Given the description of an element on the screen output the (x, y) to click on. 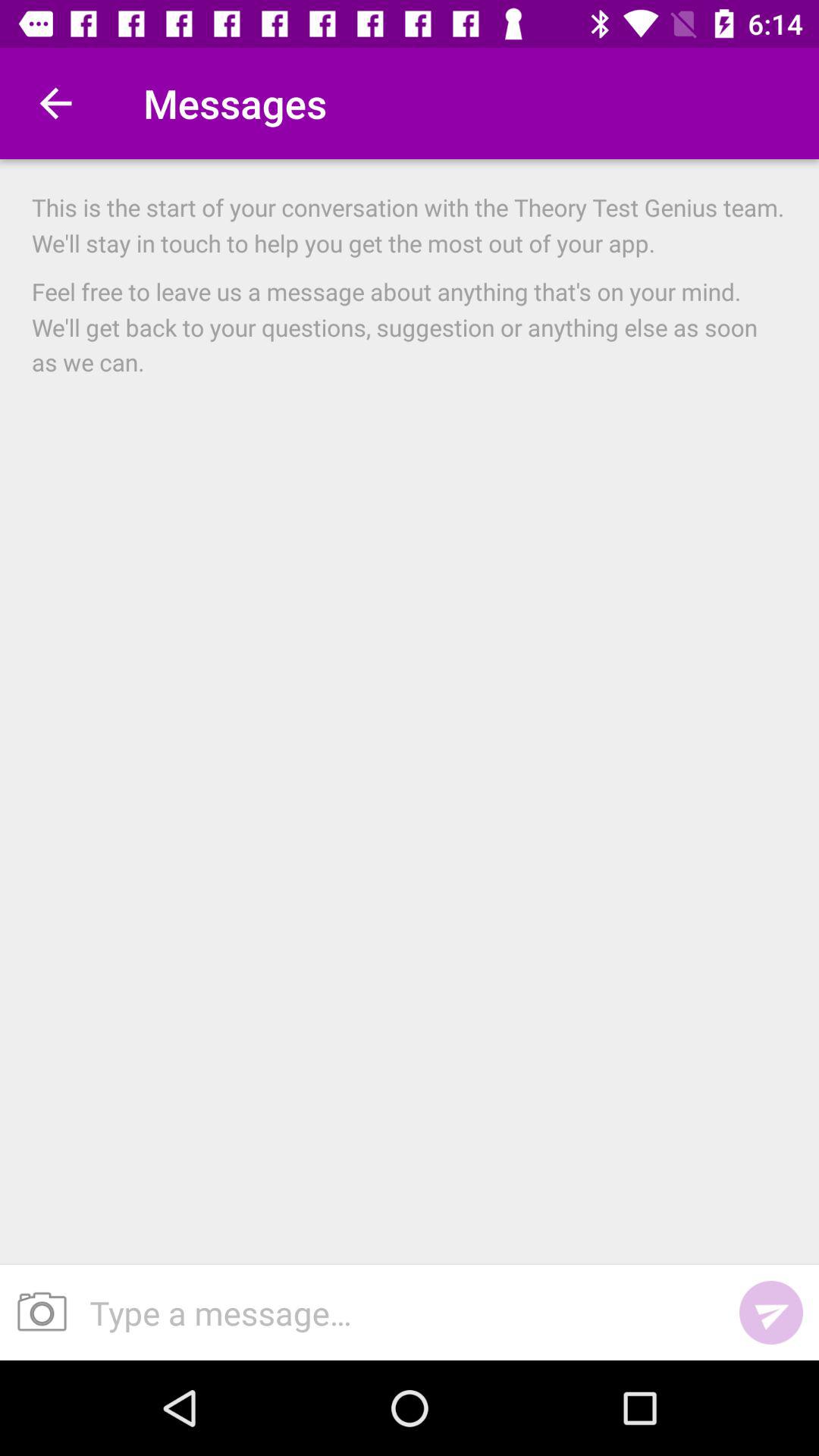
click the item next to messages item (55, 103)
